Given the description of an element on the screen output the (x, y) to click on. 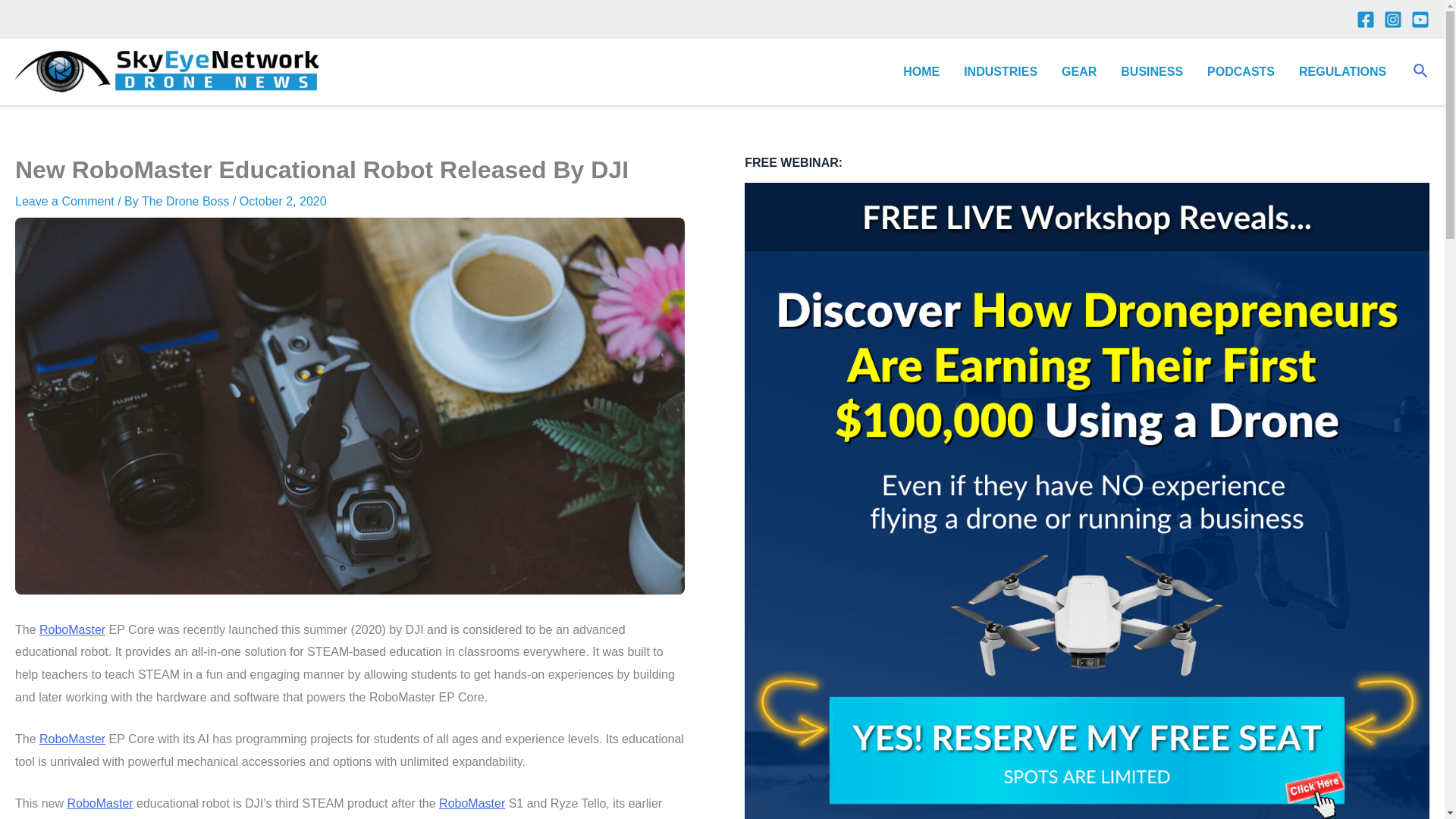
RoboMaster (71, 738)
PODCASTS (1241, 71)
The Drone Boss (186, 201)
INDUSTRIES (1000, 71)
RoboMaster (472, 802)
Leave a Comment (64, 201)
View all posts by The Drone Boss (186, 201)
BUSINESS (1151, 71)
RoboMaster (71, 629)
RoboMaster (99, 802)
